Given the description of an element on the screen output the (x, y) to click on. 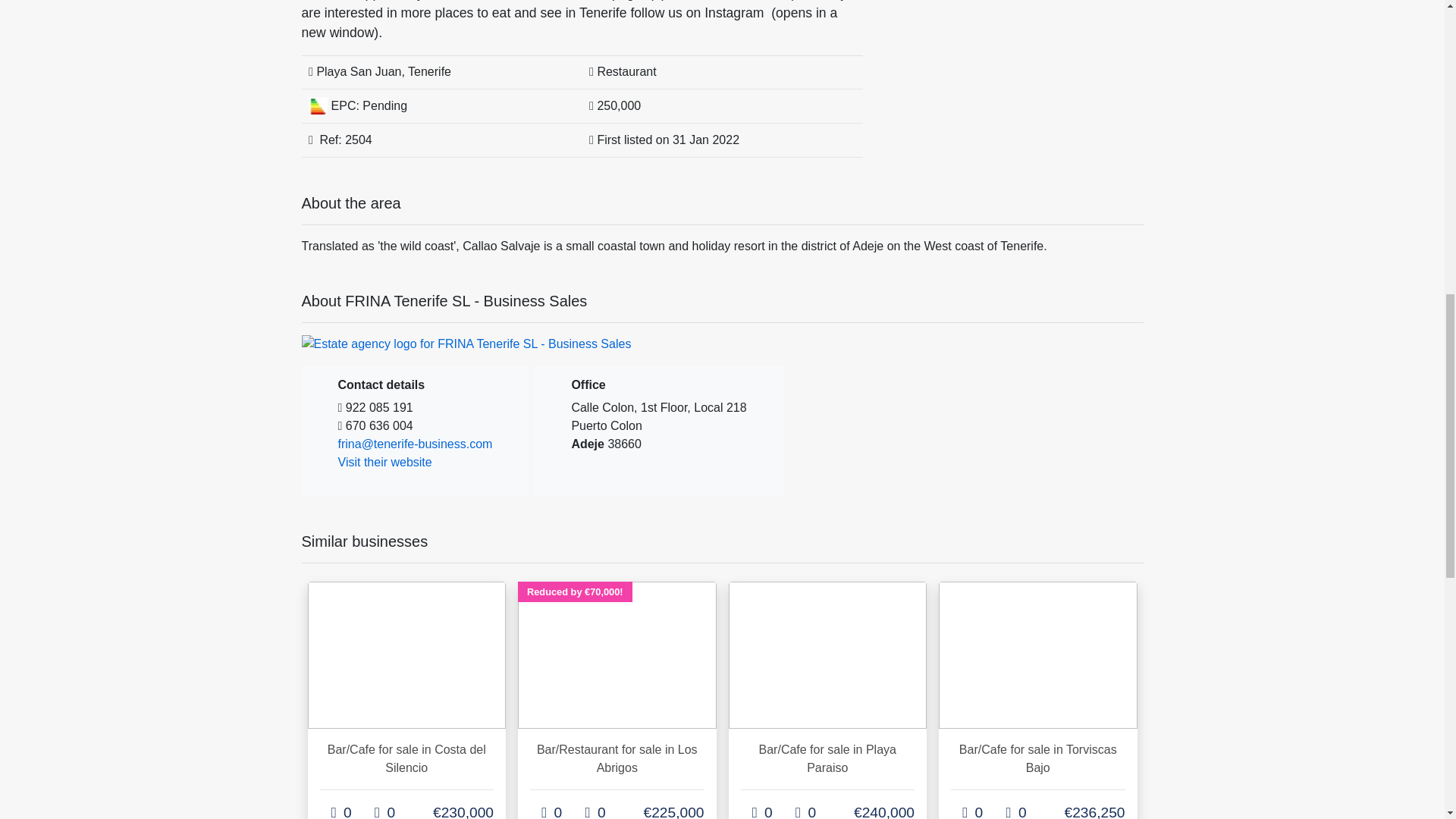
Visit their website (384, 461)
